Given the description of an element on the screen output the (x, y) to click on. 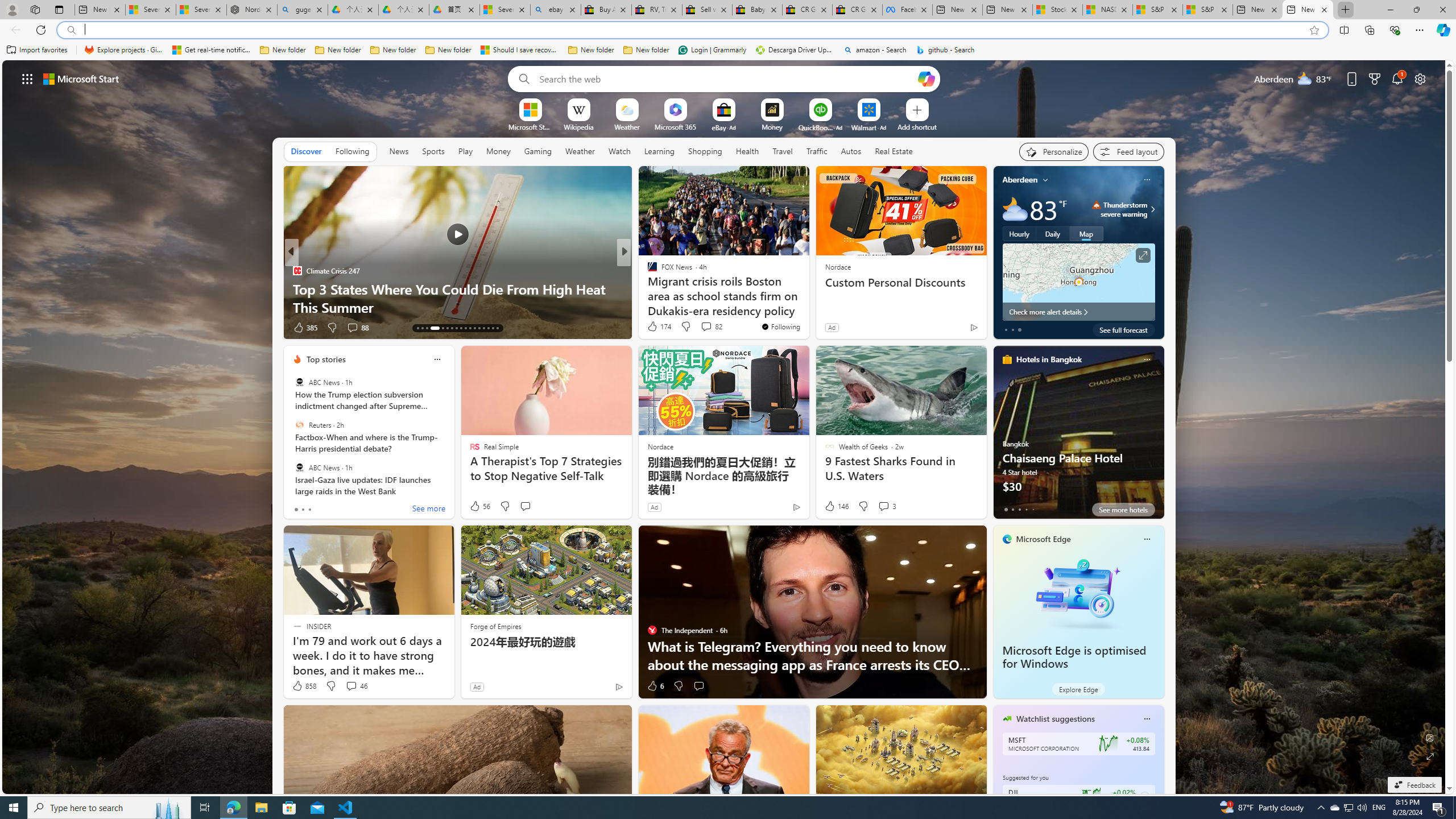
AutomationID: tab-22 (465, 328)
Login | Grammarly (712, 49)
View comments 82 Comment (710, 326)
AutomationID: tab-20 (456, 328)
Microsoft start (81, 78)
Shopping (705, 151)
Autos (851, 151)
Reuters (299, 424)
View comments 3 Comment (883, 505)
Buy Auto Parts & Accessories | eBay (606, 9)
